Given the description of an element on the screen output the (x, y) to click on. 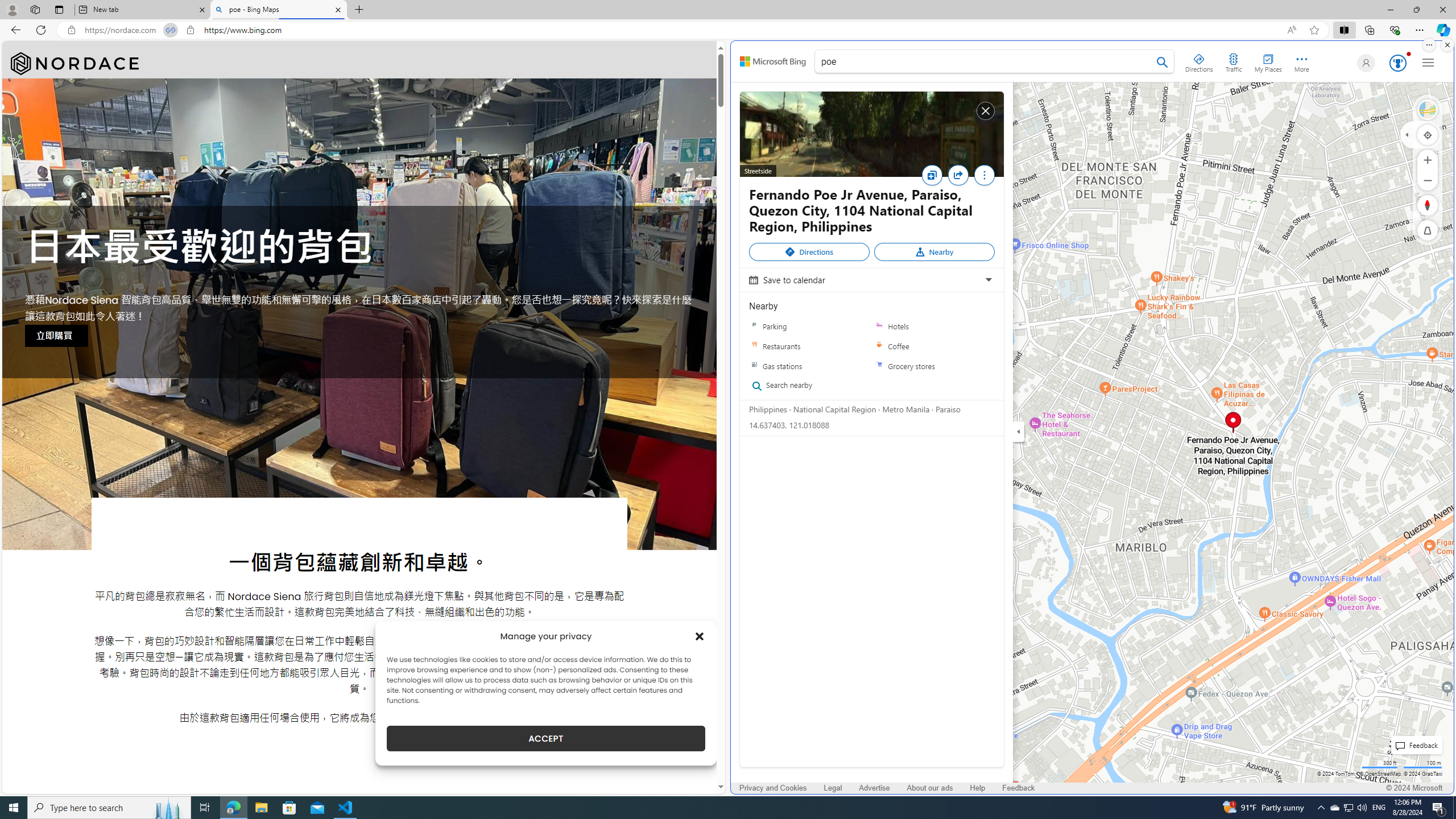
Legal (832, 787)
My Places (1267, 60)
Directions (808, 252)
Reset to Default Rotation (1427, 204)
Road (1427, 109)
Expand/Collapse Cards (1019, 431)
Parking (808, 326)
Class: cmplz-close (699, 636)
Traffic (1232, 60)
Share (957, 174)
Gas stations (808, 365)
Rotate Right (1416, 205)
Directions (1199, 60)
